Given the description of an element on the screen output the (x, y) to click on. 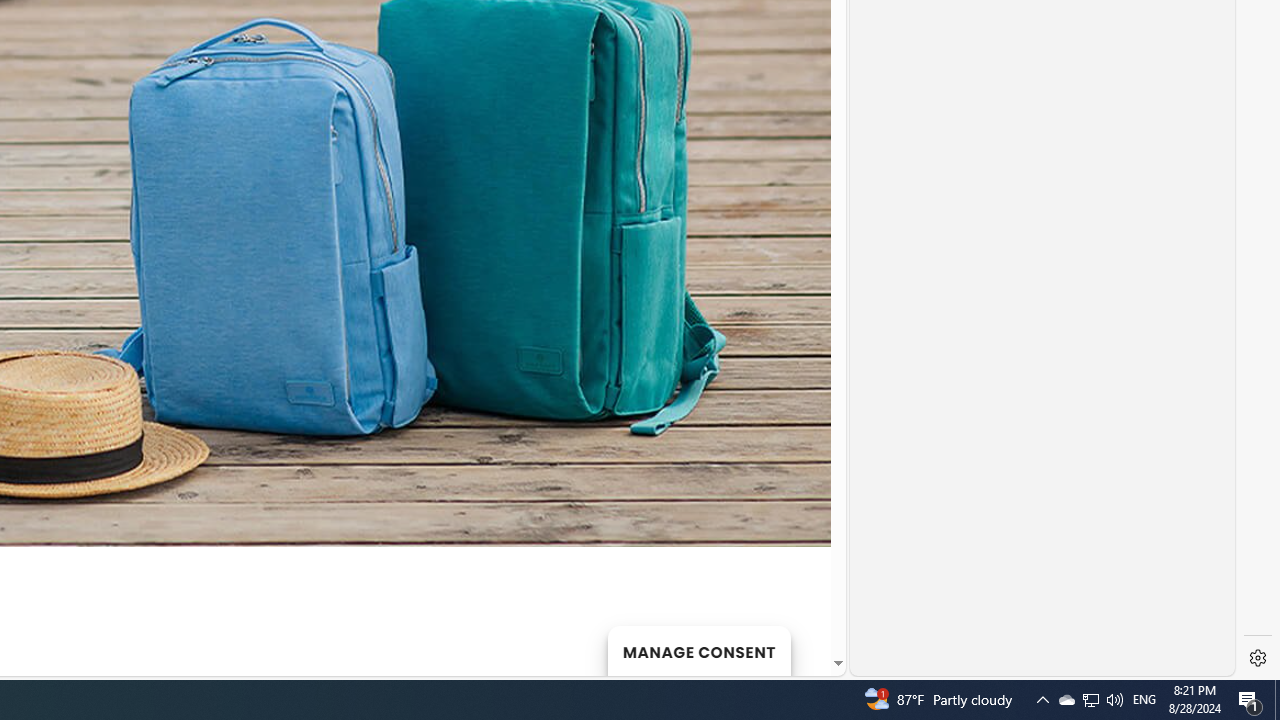
MANAGE CONSENT (698, 650)
